Given the description of an element on the screen output the (x, y) to click on. 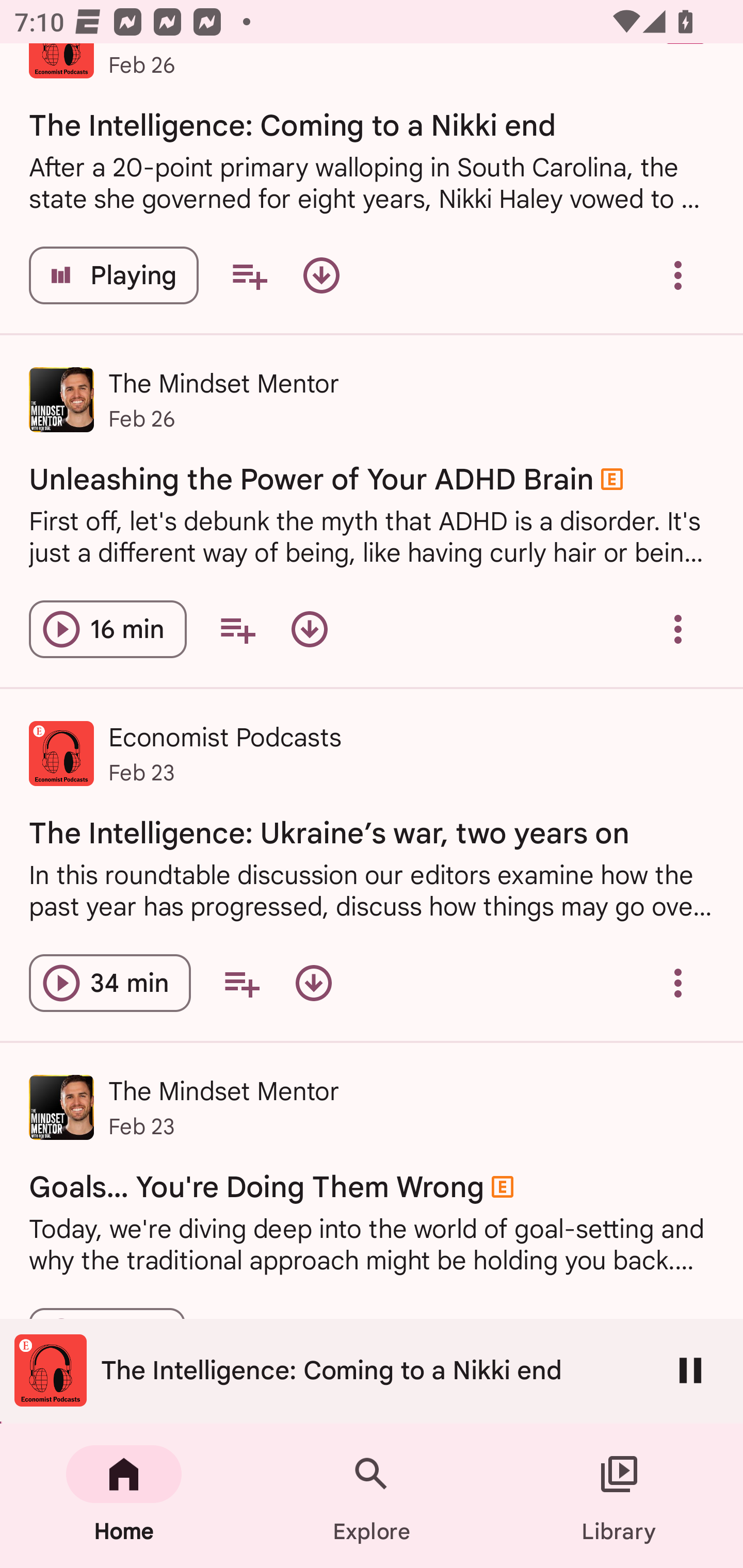
Add to your queue (249, 275)
Download episode (321, 275)
Overflow menu (677, 275)
Add to your queue (237, 629)
Download episode (309, 629)
Overflow menu (677, 629)
Add to your queue (241, 983)
Download episode (313, 983)
Overflow menu (677, 983)
Pause (690, 1370)
Explore (371, 1495)
Library (619, 1495)
